Given the description of an element on the screen output the (x, y) to click on. 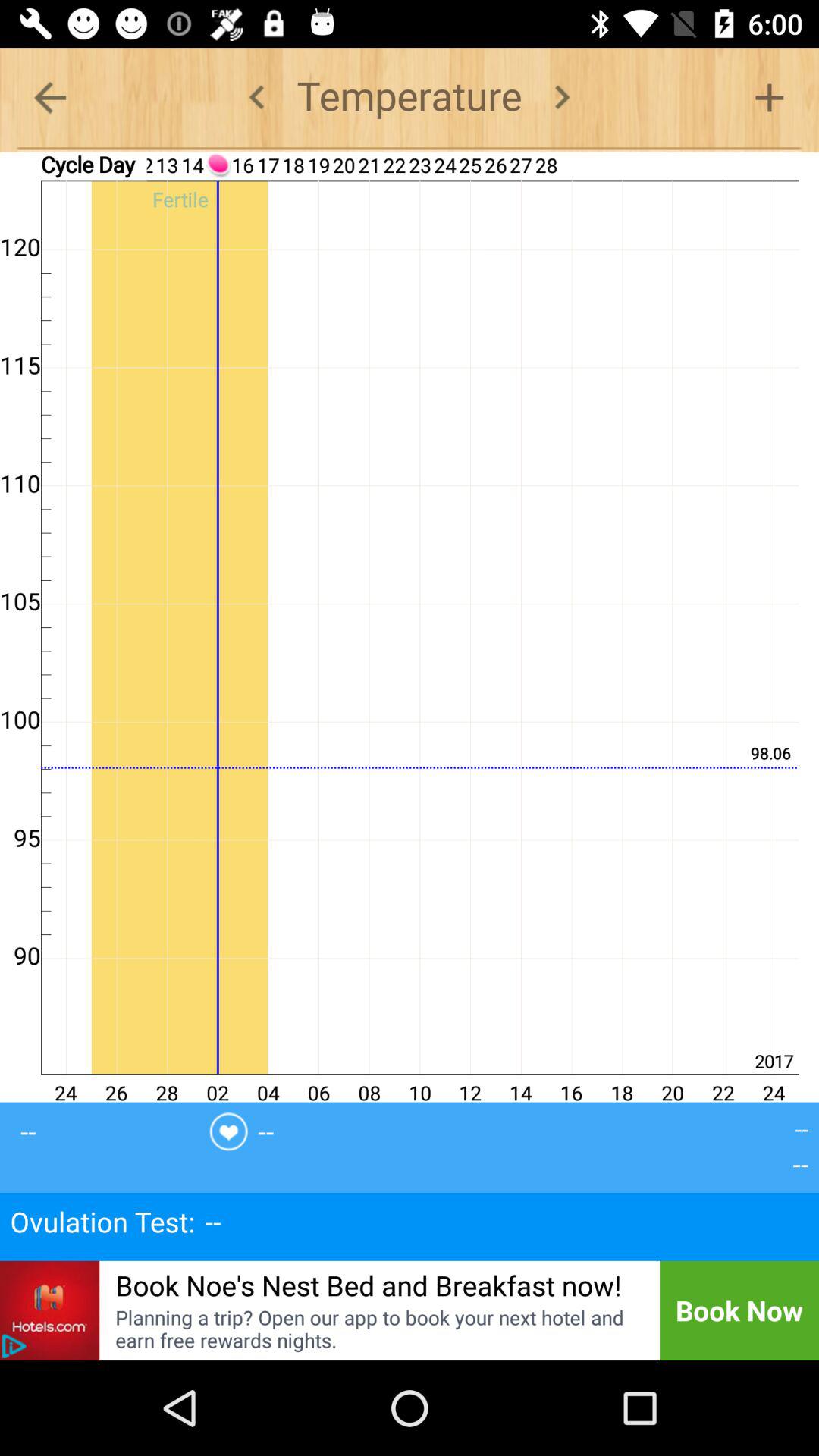
jump until temperature item (409, 96)
